Given the description of an element on the screen output the (x, y) to click on. 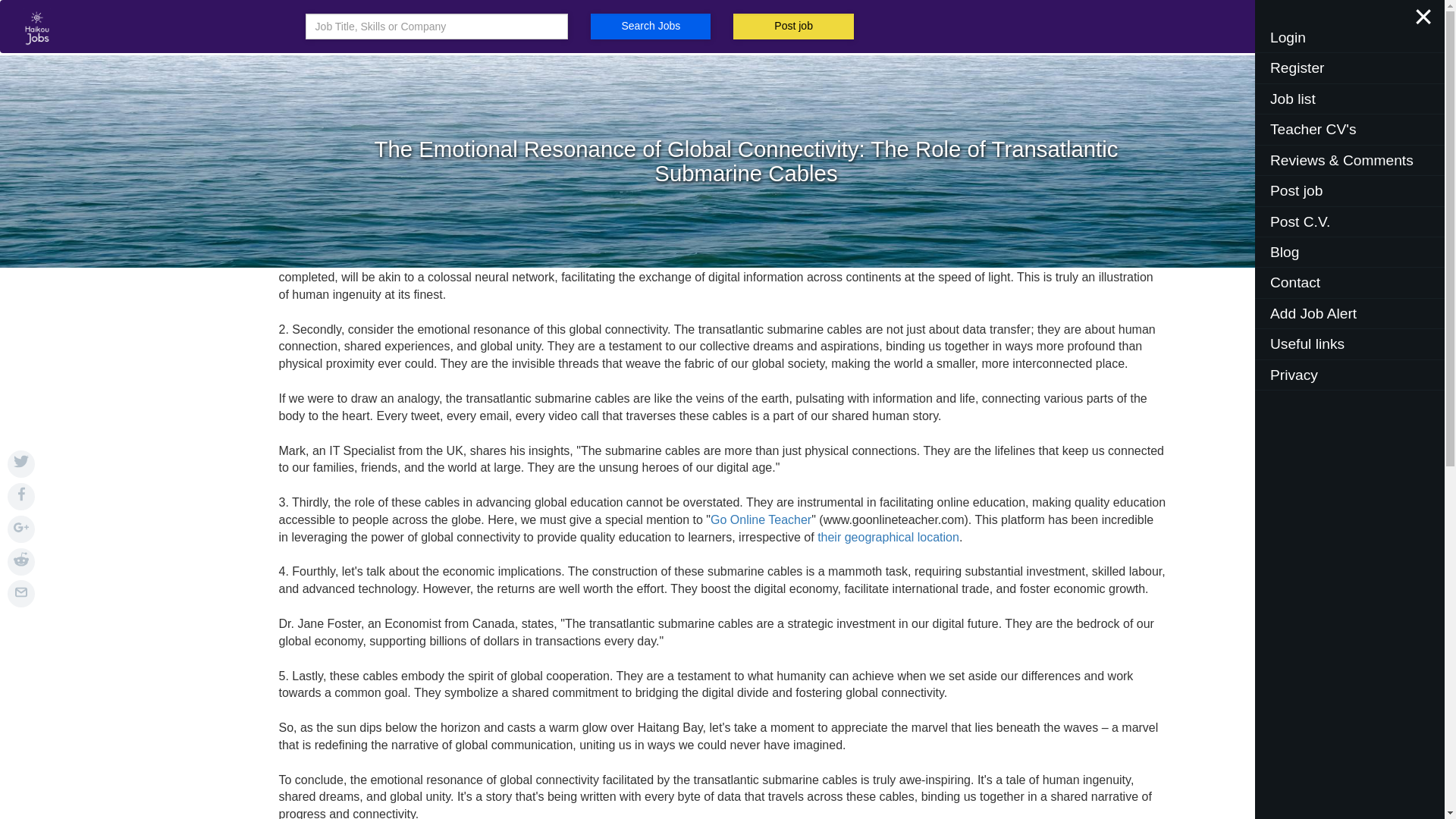
Post job (793, 26)
their geographical location (887, 536)
Go Online Teacher (760, 519)
Search Jobs (650, 26)
